Given the description of an element on the screen output the (x, y) to click on. 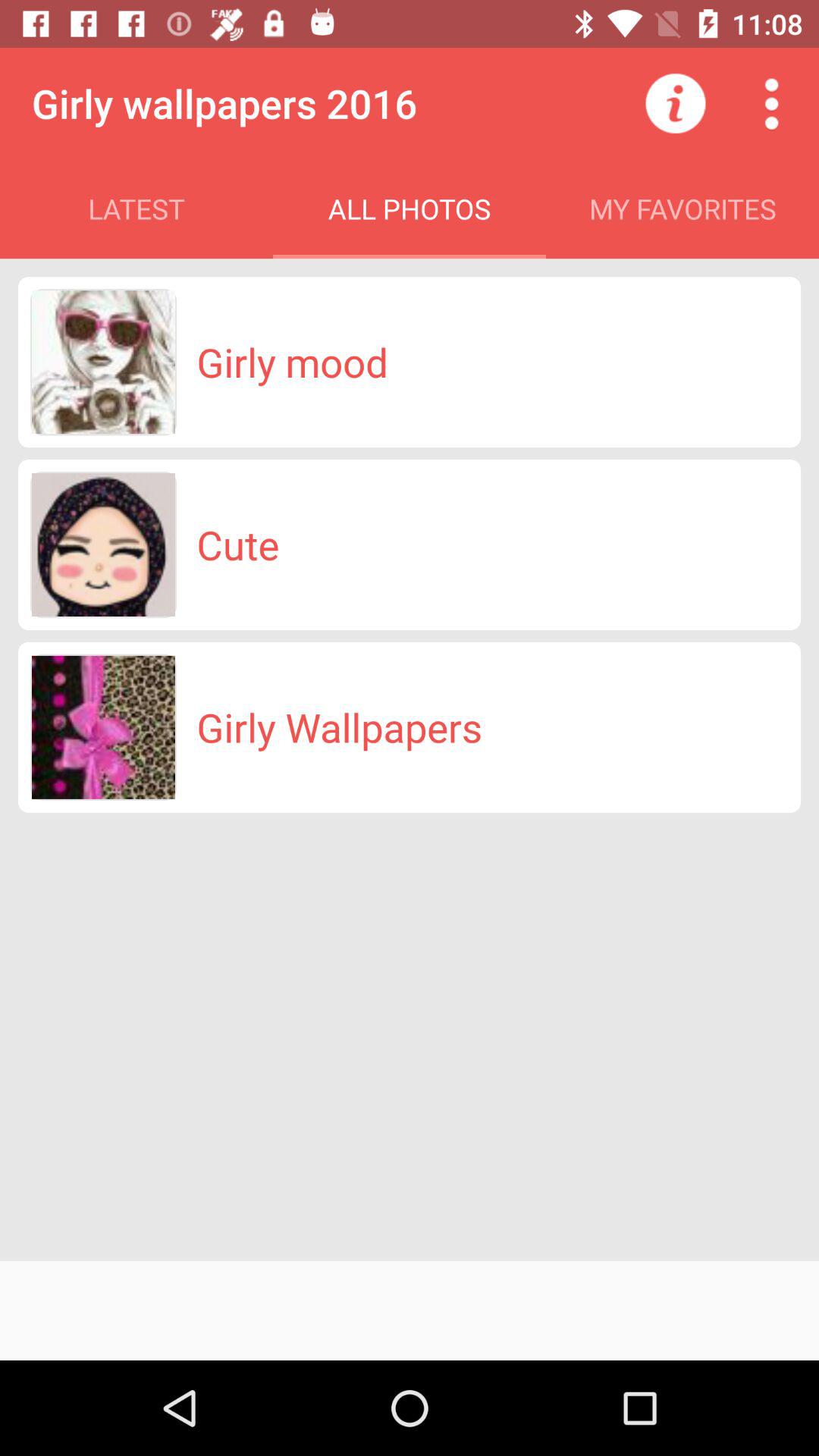
tap girly mood icon (291, 361)
